Given the description of an element on the screen output the (x, y) to click on. 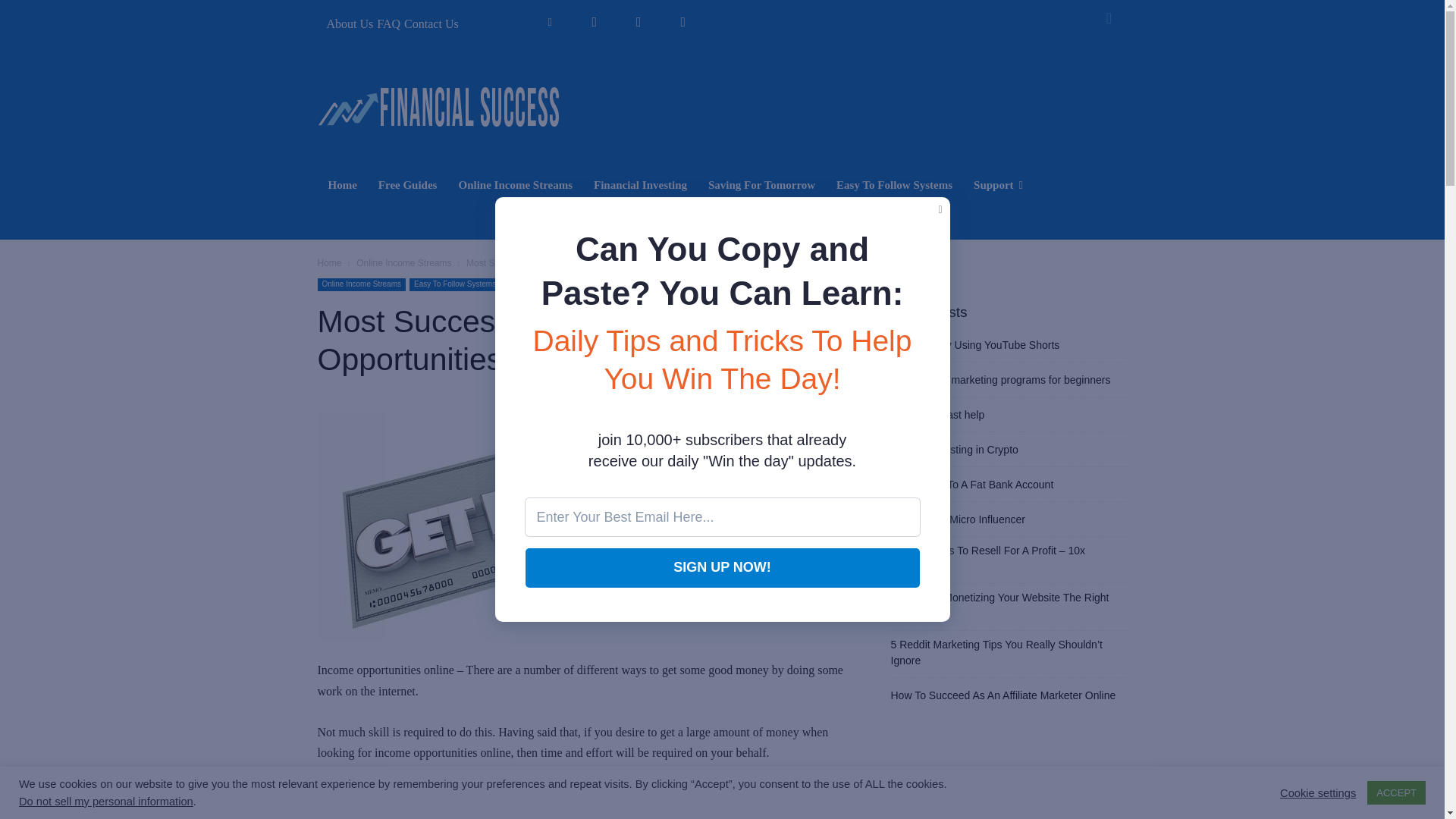
Youtube (683, 22)
Online Income Streams (403, 262)
Easy To Follow Systems (893, 185)
Contact Us (431, 23)
Income Opportunities Online (506, 525)
Facebook (593, 22)
Finance Success Revealed Logo (438, 107)
Home (341, 185)
Free Guides (408, 185)
Financial Investing (640, 185)
Support (997, 185)
Twitter (639, 22)
View all posts in Online Income Streams (403, 262)
Saving For Tomorrow (761, 185)
Blogger (550, 22)
